Given the description of an element on the screen output the (x, y) to click on. 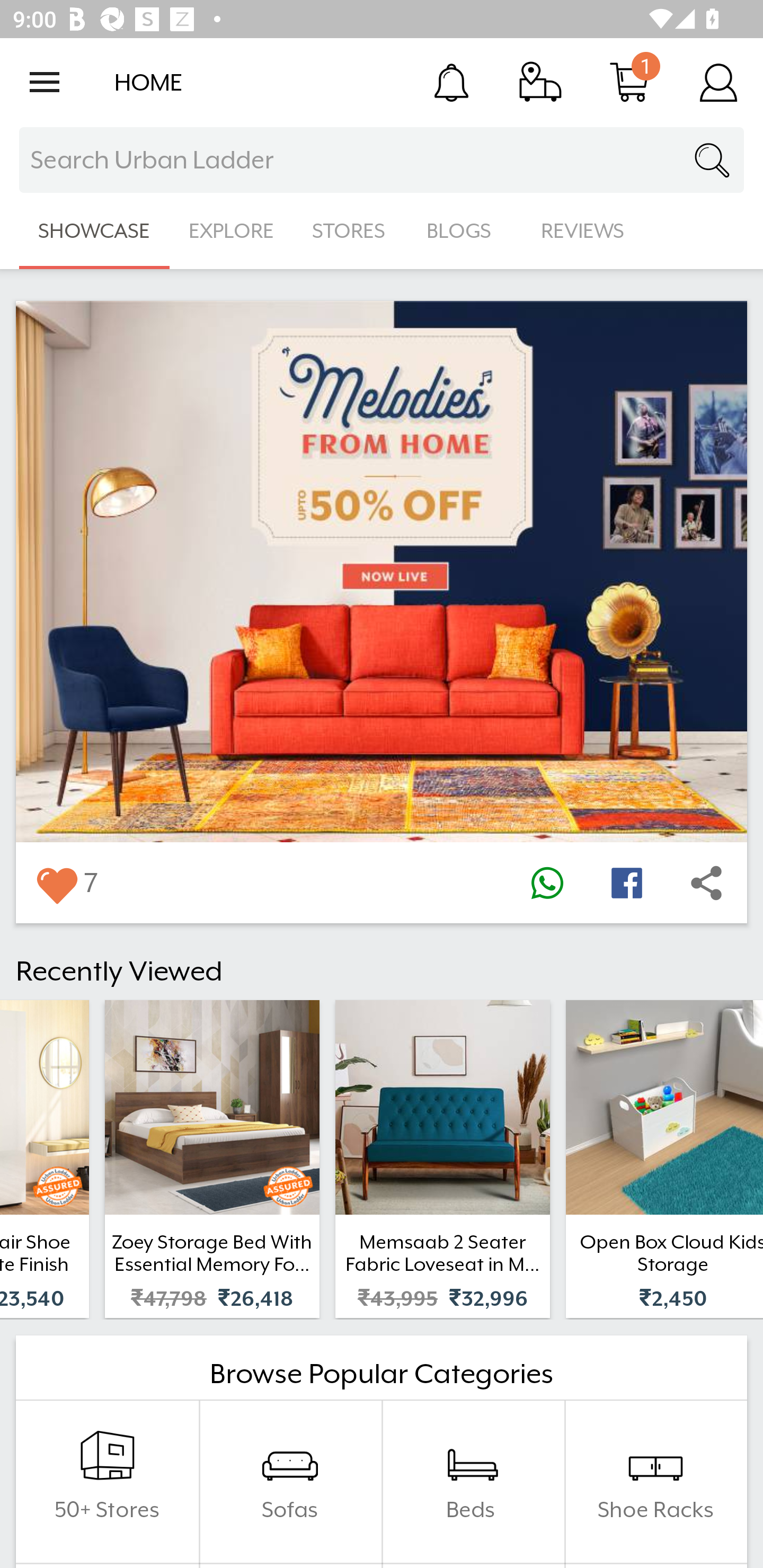
Open navigation drawer (44, 82)
Notification (450, 81)
Track Order (540, 81)
Cart (629, 81)
Account Details (718, 81)
Search Urban Ladder  (381, 159)
SHOWCASE (94, 230)
EXPLORE (230, 230)
STORES (349, 230)
BLOGS (464, 230)
REVIEWS (582, 230)
 (55, 882)
 (547, 882)
 (626, 882)
 (706, 882)
Open Box Cloud Kids Storage ₹2,450 (664, 1159)
50+ Stores (106, 1481)
Sofas (289, 1481)
Beds  (473, 1481)
Shoe Racks (655, 1481)
